Given the description of an element on the screen output the (x, y) to click on. 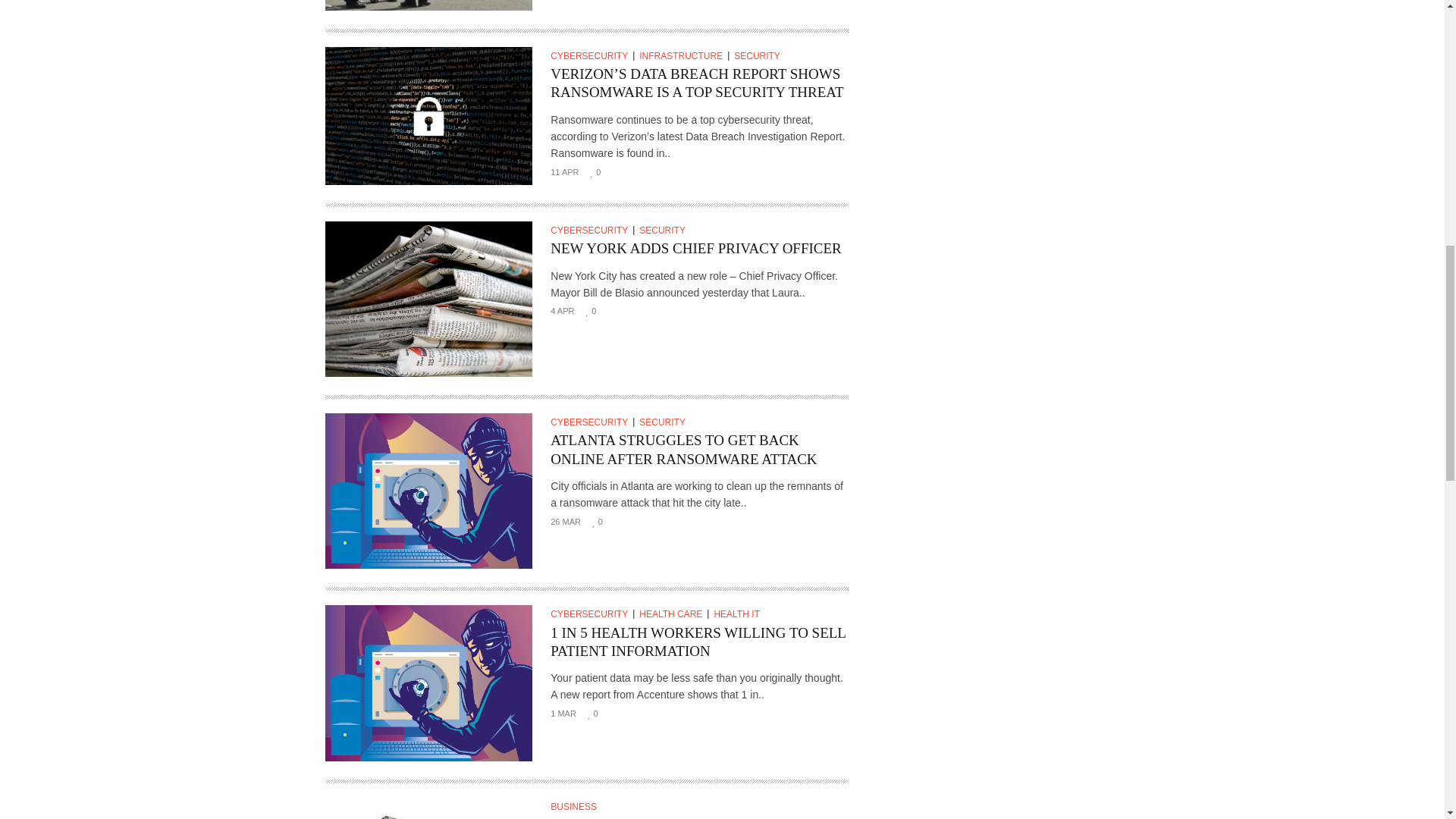
View all posts in CyberSecurity (592, 55)
View all posts in CyberSecurity (592, 421)
View all posts in CyberSecurity (592, 230)
View all posts in Infrastructure (684, 55)
View all posts in Security (664, 230)
View all posts in CyberSecurity (592, 614)
View all posts in Security (758, 55)
View all posts in Security (664, 421)
